Given the description of an element on the screen output the (x, y) to click on. 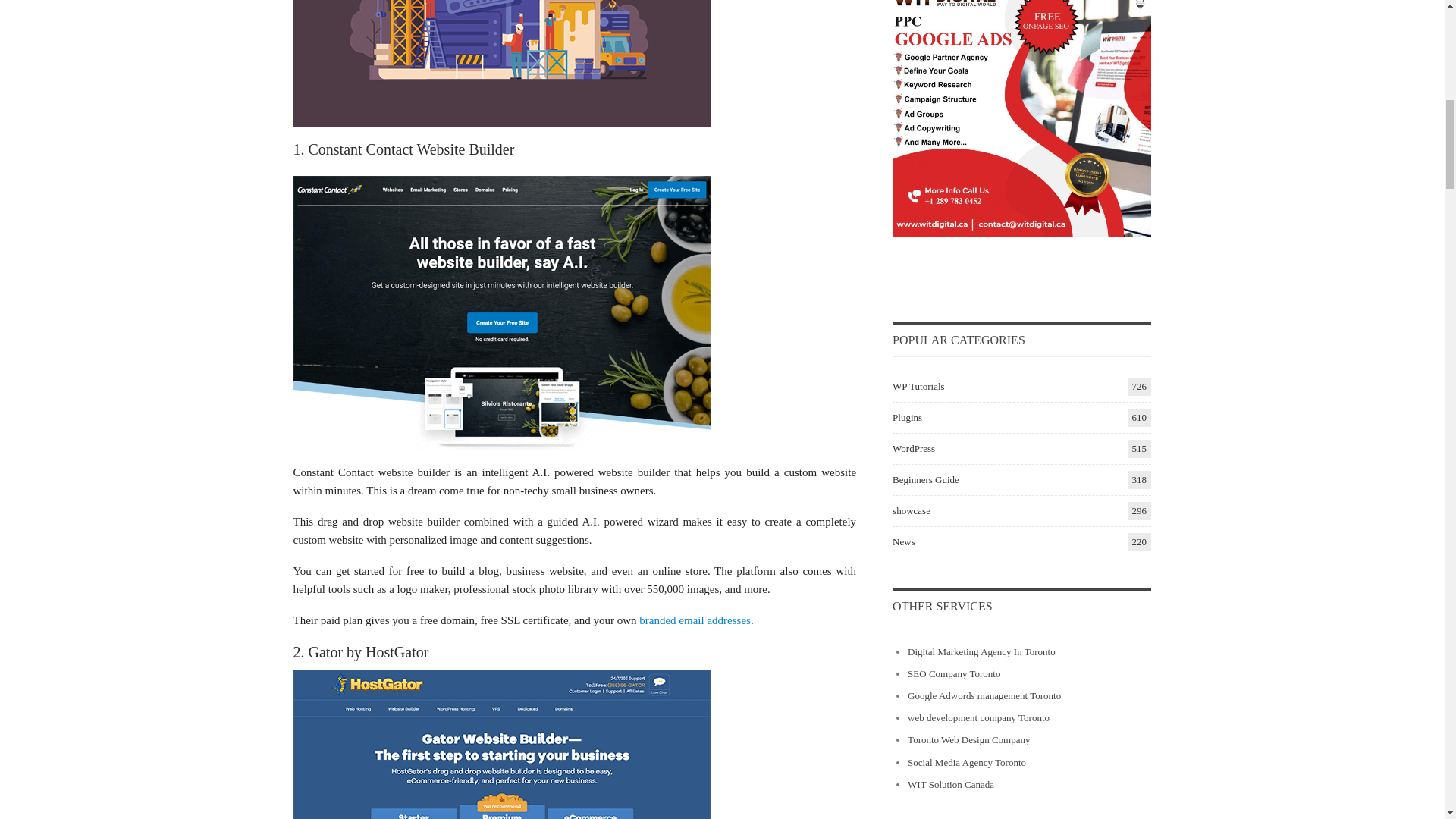
Gator website builder by HostGator (501, 744)
Constant Contact Website Builder (501, 313)
WordPress competitors - Popular alternatives to WordPress (501, 63)
